Given the description of an element on the screen output the (x, y) to click on. 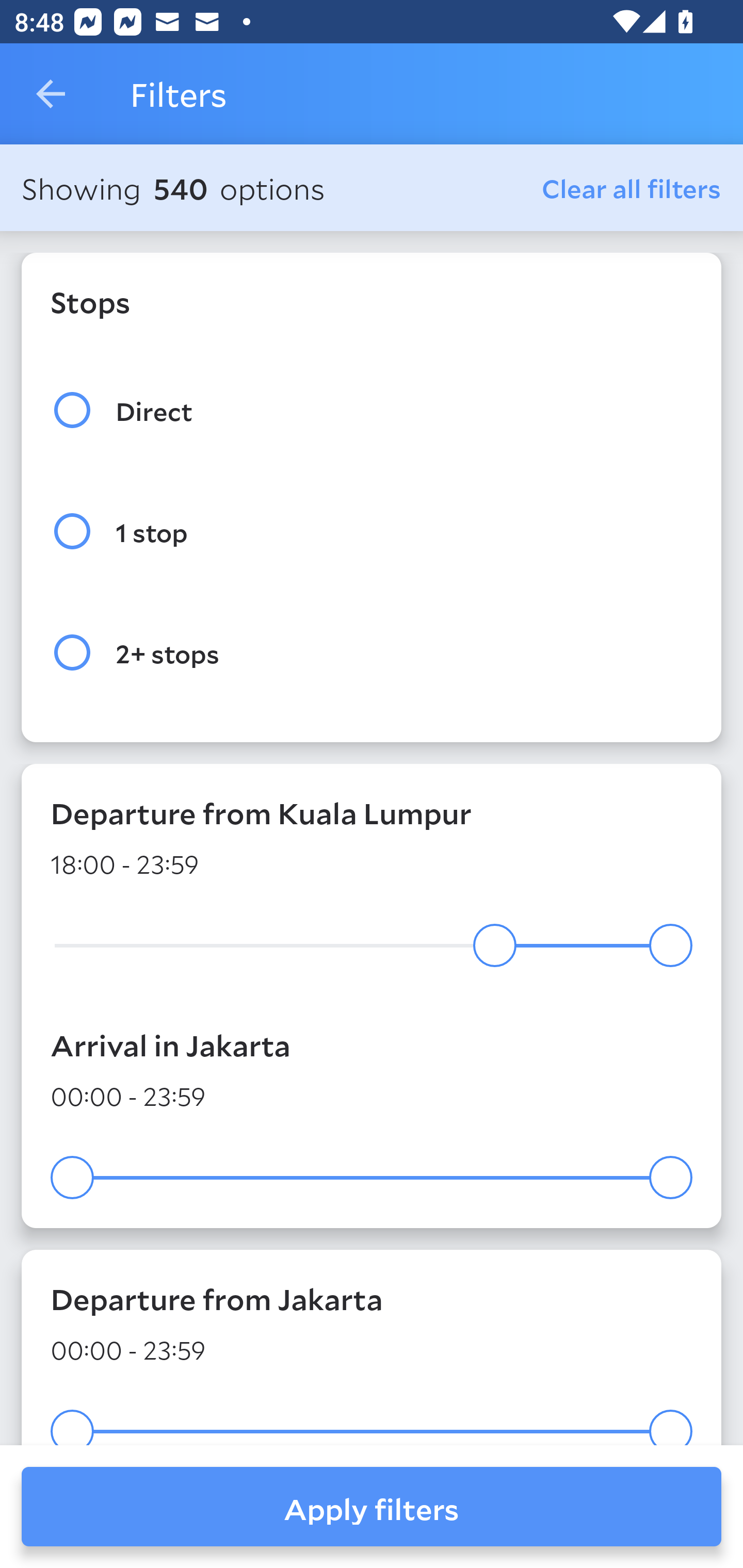
Navigate up (50, 93)
Clear all filters (631, 187)
Direct (371, 409)
1 stop (371, 531)
2+ stops (371, 652)
Apply filters (371, 1506)
